Given the description of an element on the screen output the (x, y) to click on. 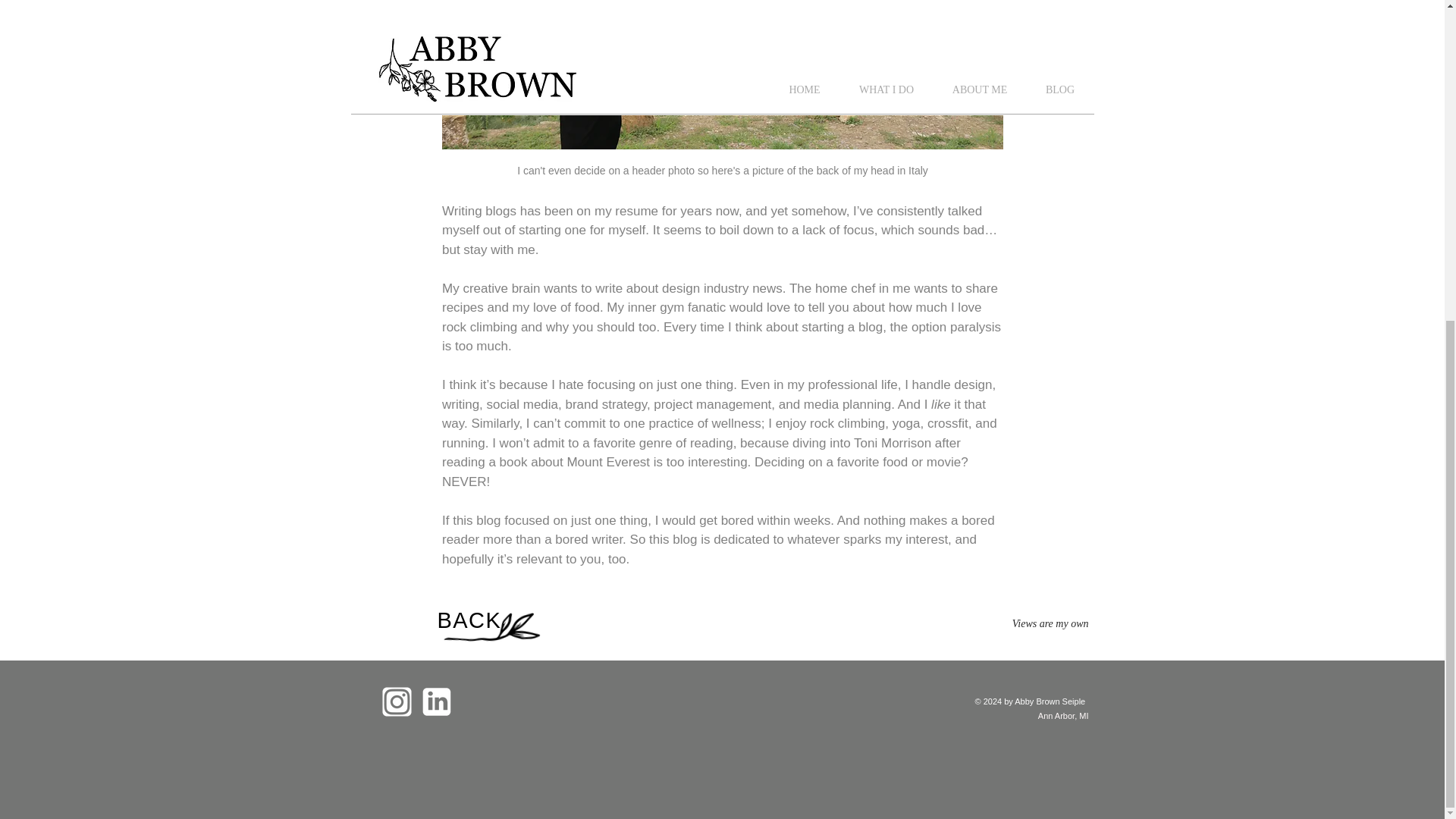
BACK (468, 620)
